Given the description of an element on the screen output the (x, y) to click on. 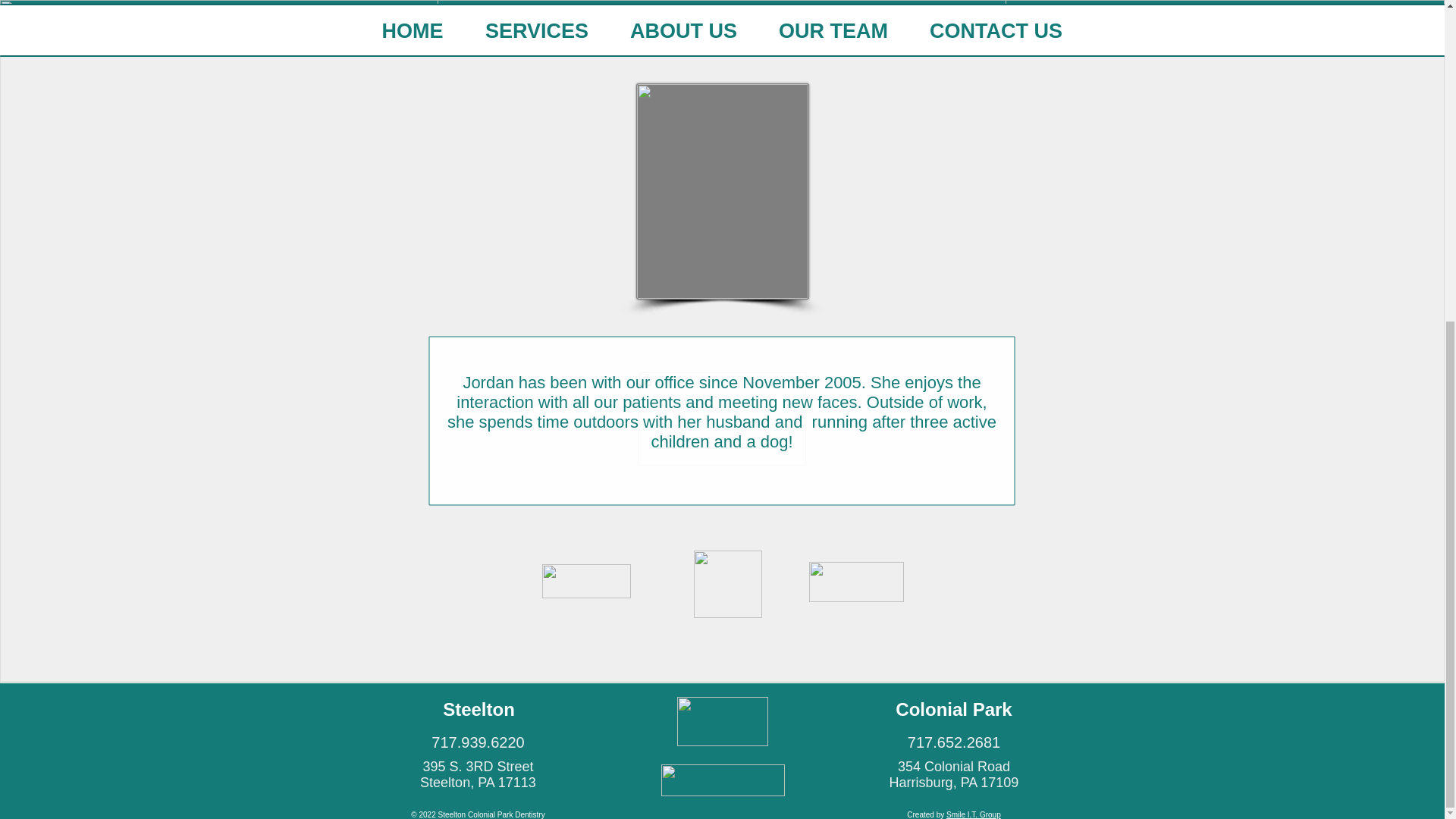
SERVICES (536, 36)
OUR TEAM (833, 36)
CONTACT US (995, 36)
717.652.2681 (954, 774)
Steelton (953, 742)
ABOUT US (478, 709)
Colonial Park (684, 36)
HOME (953, 709)
717.939.6220 (412, 36)
